Given the description of an element on the screen output the (x, y) to click on. 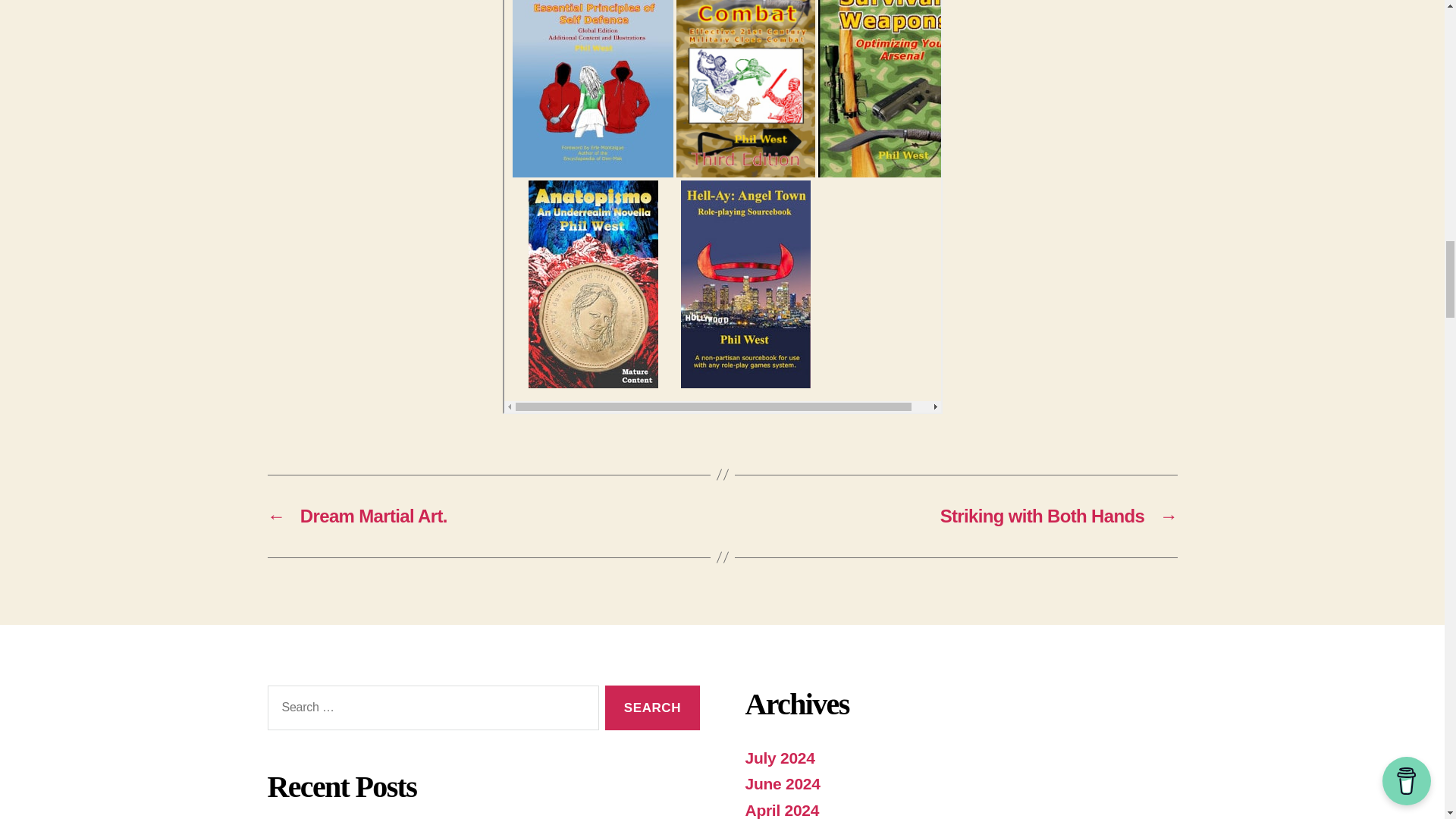
Search (651, 707)
Search (651, 707)
